Given the description of an element on the screen output the (x, y) to click on. 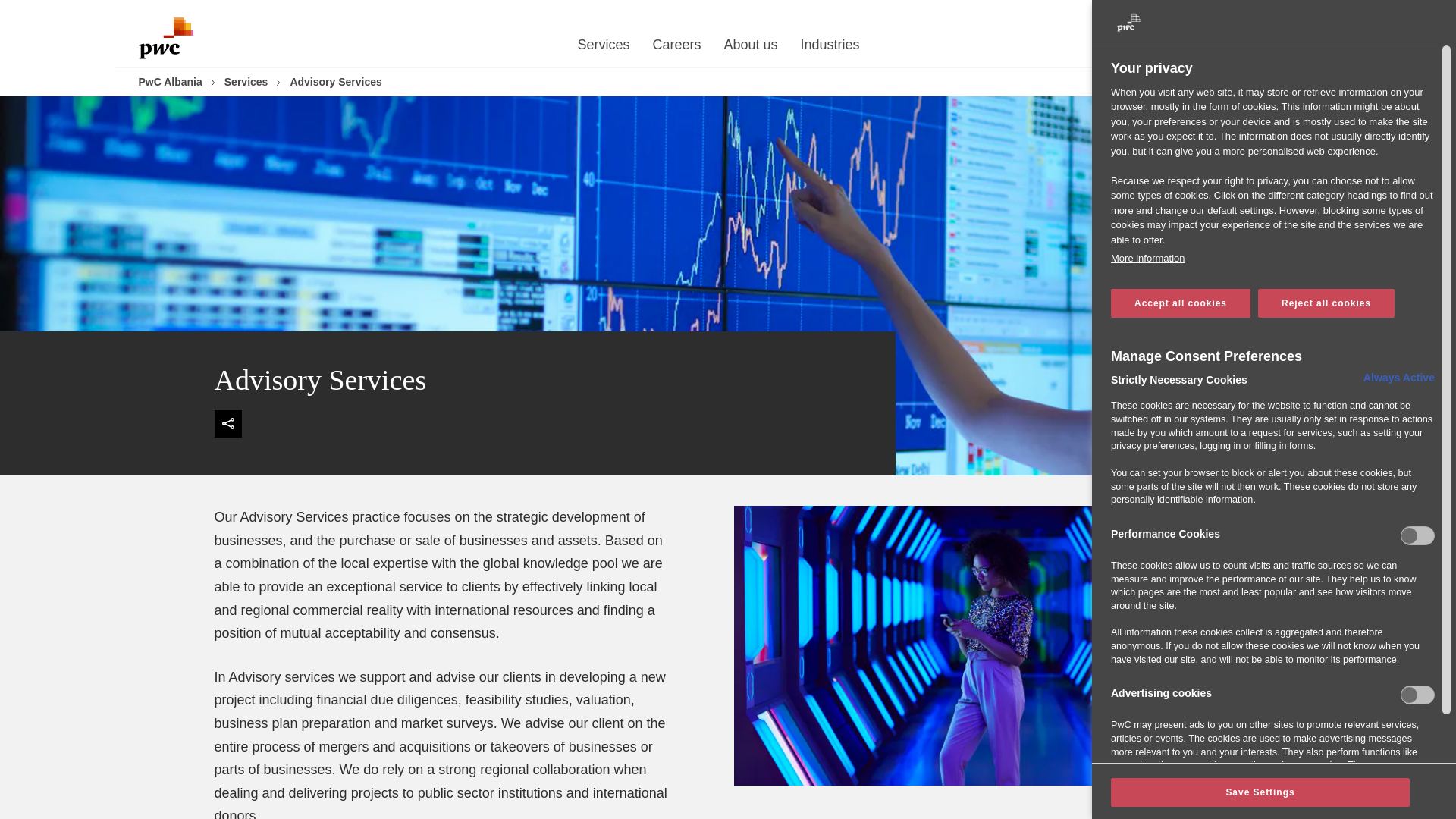
About us (750, 49)
Services (602, 49)
Careers (676, 49)
Albania (1271, 13)
Industries (830, 49)
